Given the description of an element on the screen output the (x, y) to click on. 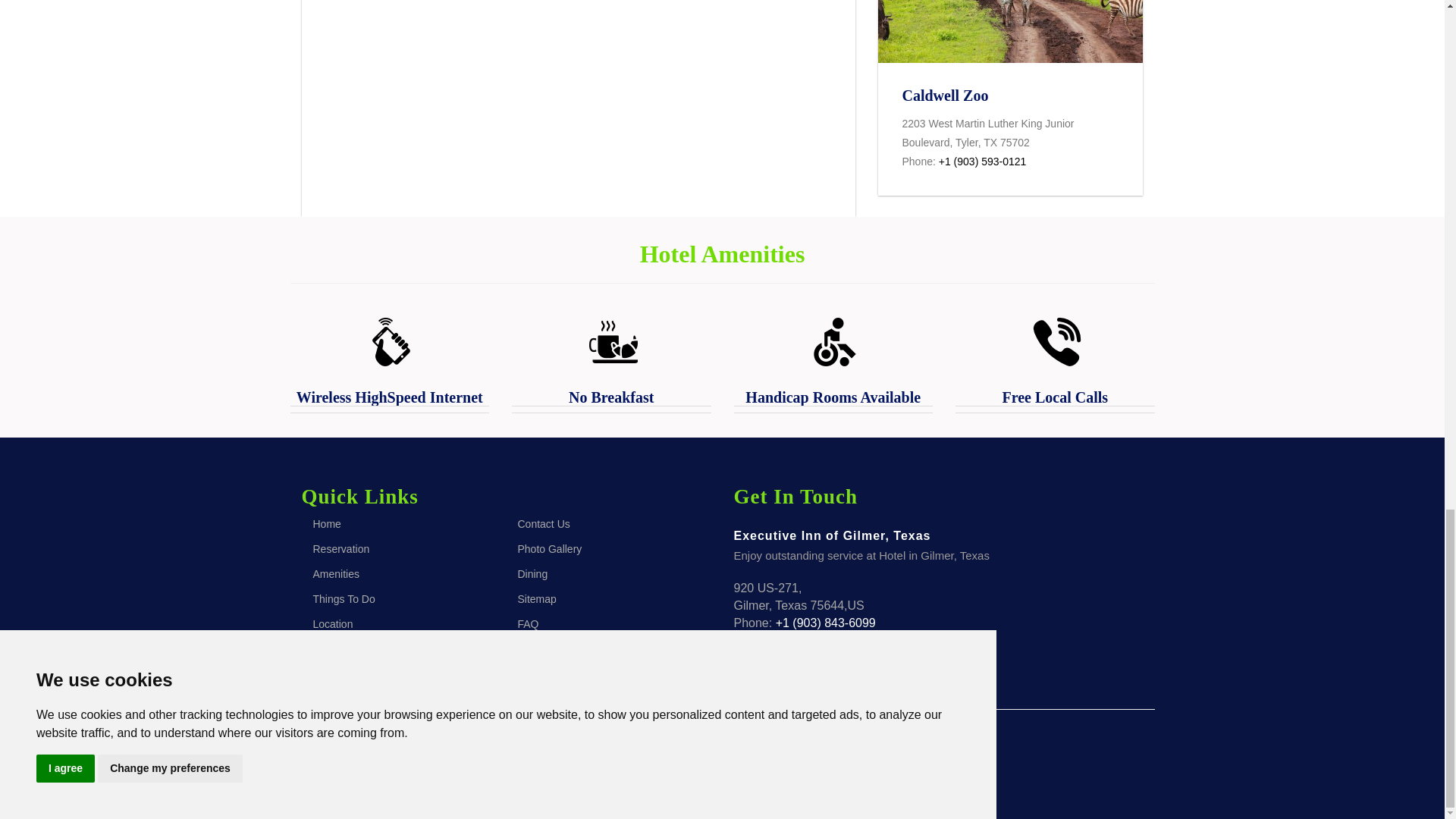
Video (578, 108)
